Given the description of an element on the screen output the (x, y) to click on. 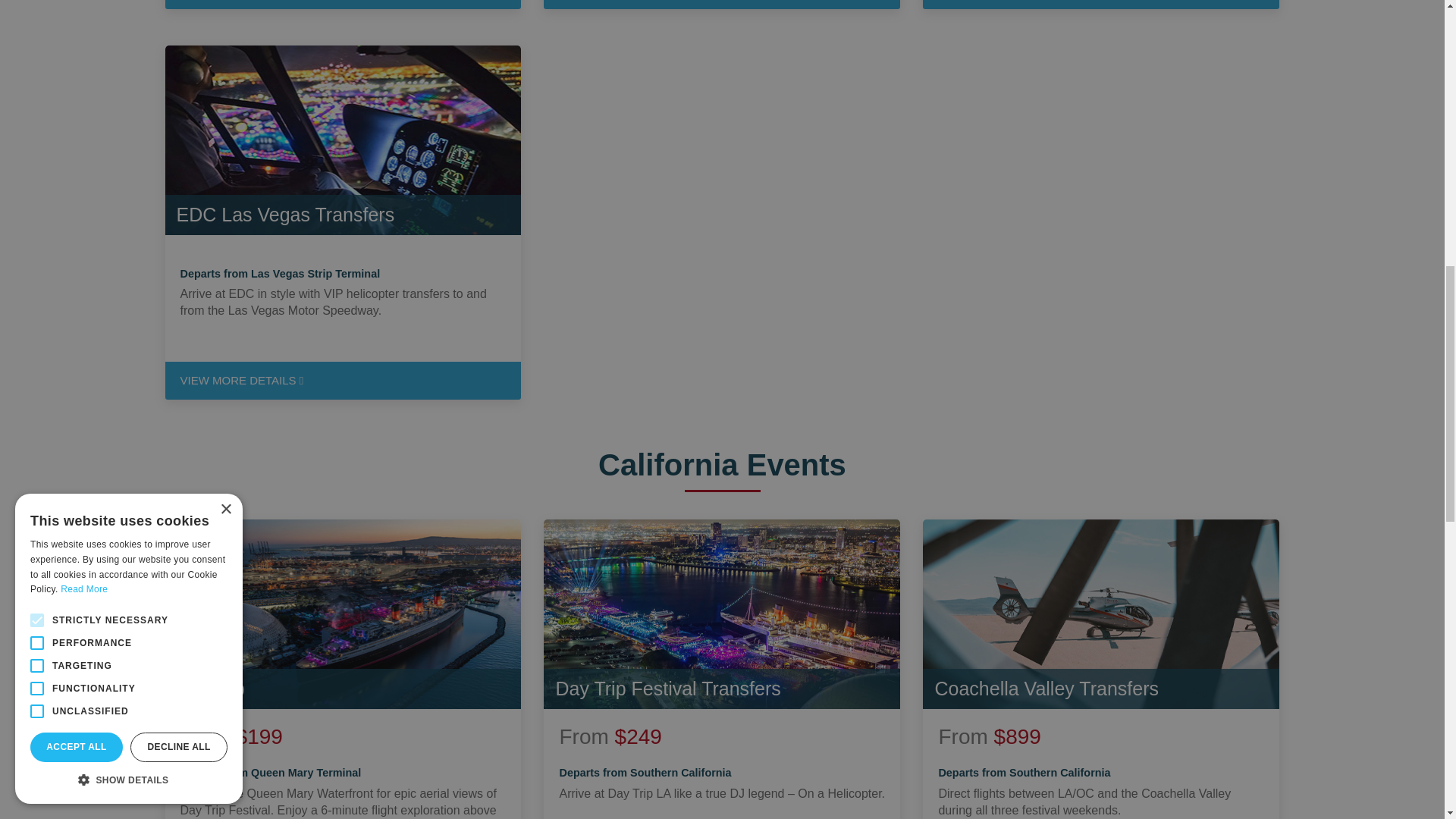
Aerial view of Day Trip Festival from helicopter (343, 614)
VIP helicopter transfers to and from EDC (343, 140)
Maverick Helicopter Coachella Valley Transfers (1101, 614)
